Given the description of an element on the screen output the (x, y) to click on. 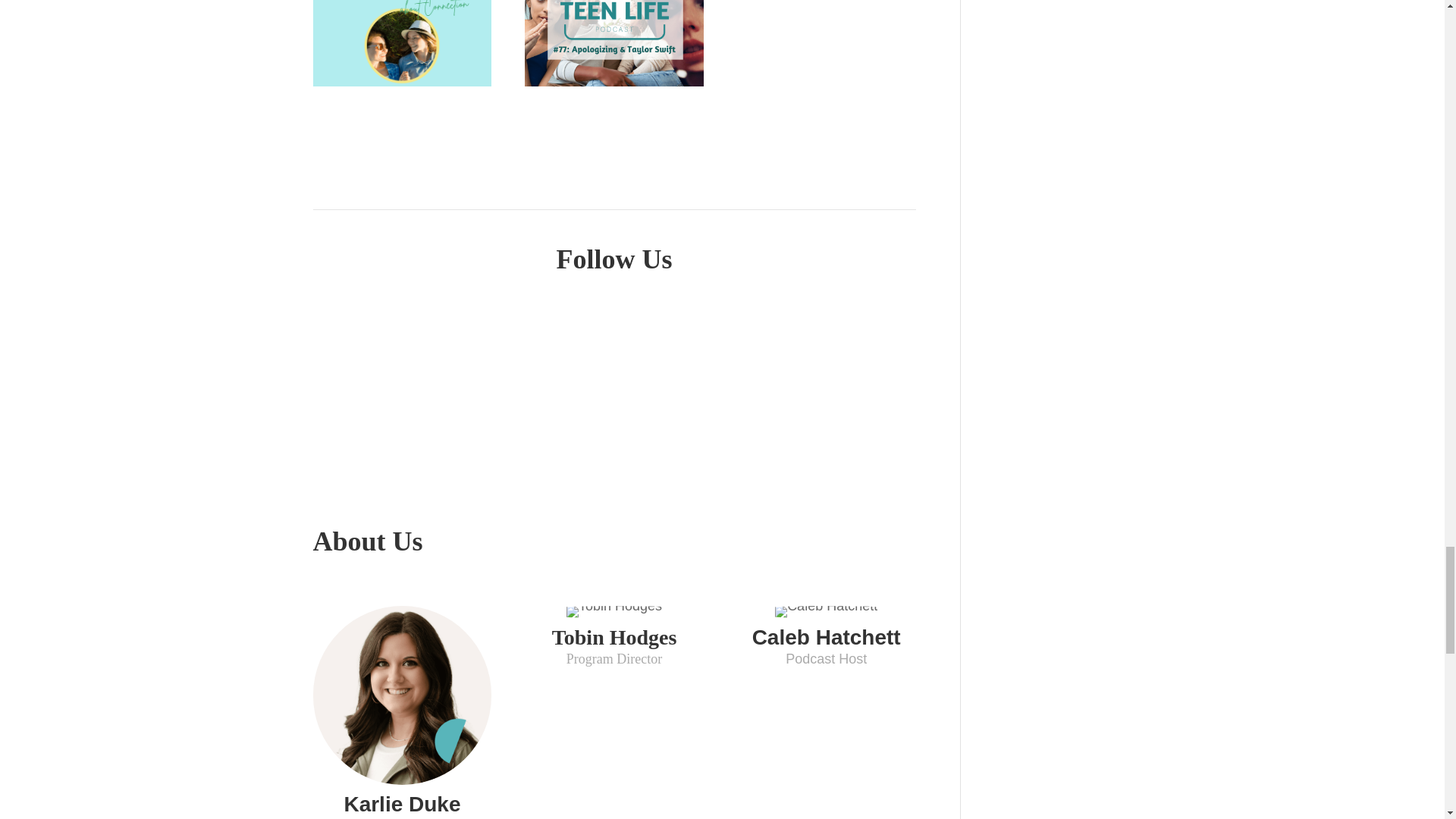
Episode 58: Talking with Teens about Connection (402, 43)
Episode 77: Apologizing and Taylor Swift (613, 43)
